Given the description of an element on the screen output the (x, y) to click on. 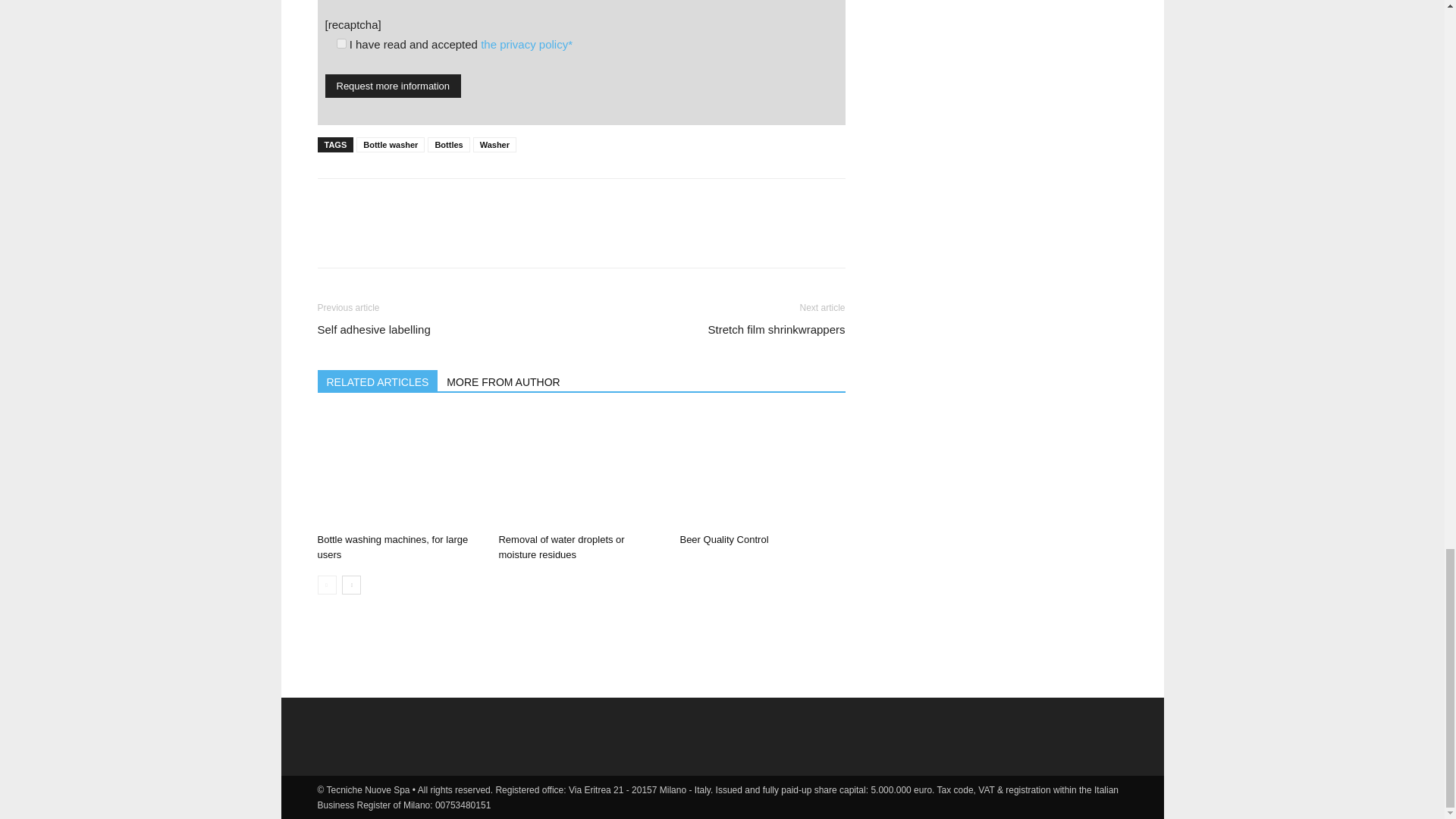
Beer Quality Control (723, 539)
Bottles (448, 144)
1 (341, 43)
Request more information (392, 85)
Removal of water droplets or moisture residues (580, 470)
Stretch film shrinkwrappers (776, 329)
Request more information (392, 85)
Beer Quality Control (761, 470)
Bottle washing machines, for large users (399, 470)
Washer (494, 144)
Removal of water droplets or moisture residues (560, 546)
Self adhesive labelling (373, 329)
Bottle washer (390, 144)
Bottle washing machines, for large users (392, 546)
